Given the description of an element on the screen output the (x, y) to click on. 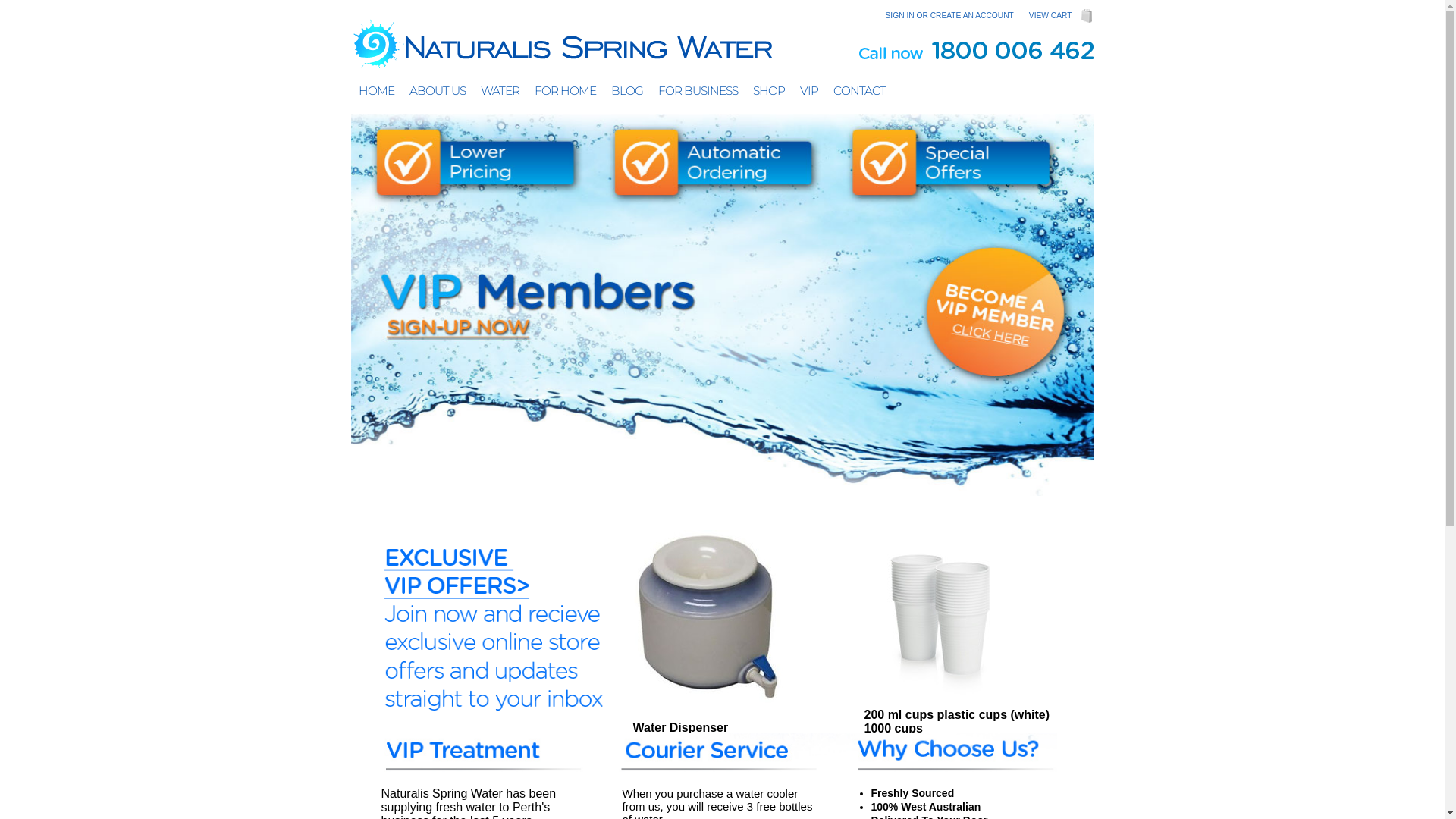
CONTACT Element type: text (858, 90)
SIGN IN Element type: text (899, 15)
HOME Element type: text (375, 90)
BLOG Element type: text (626, 90)
SHOP Element type: text (767, 90)
VIEW CART Element type: text (1050, 15)
VIP Element type: text (808, 90)
ABOUT US Element type: text (437, 90)
CREATE AN ACCOUNT Element type: text (971, 15)
WATER Element type: text (500, 90)
FOR BUSINESS Element type: text (697, 90)
FOR HOME Element type: text (564, 90)
